Given the description of an element on the screen output the (x, y) to click on. 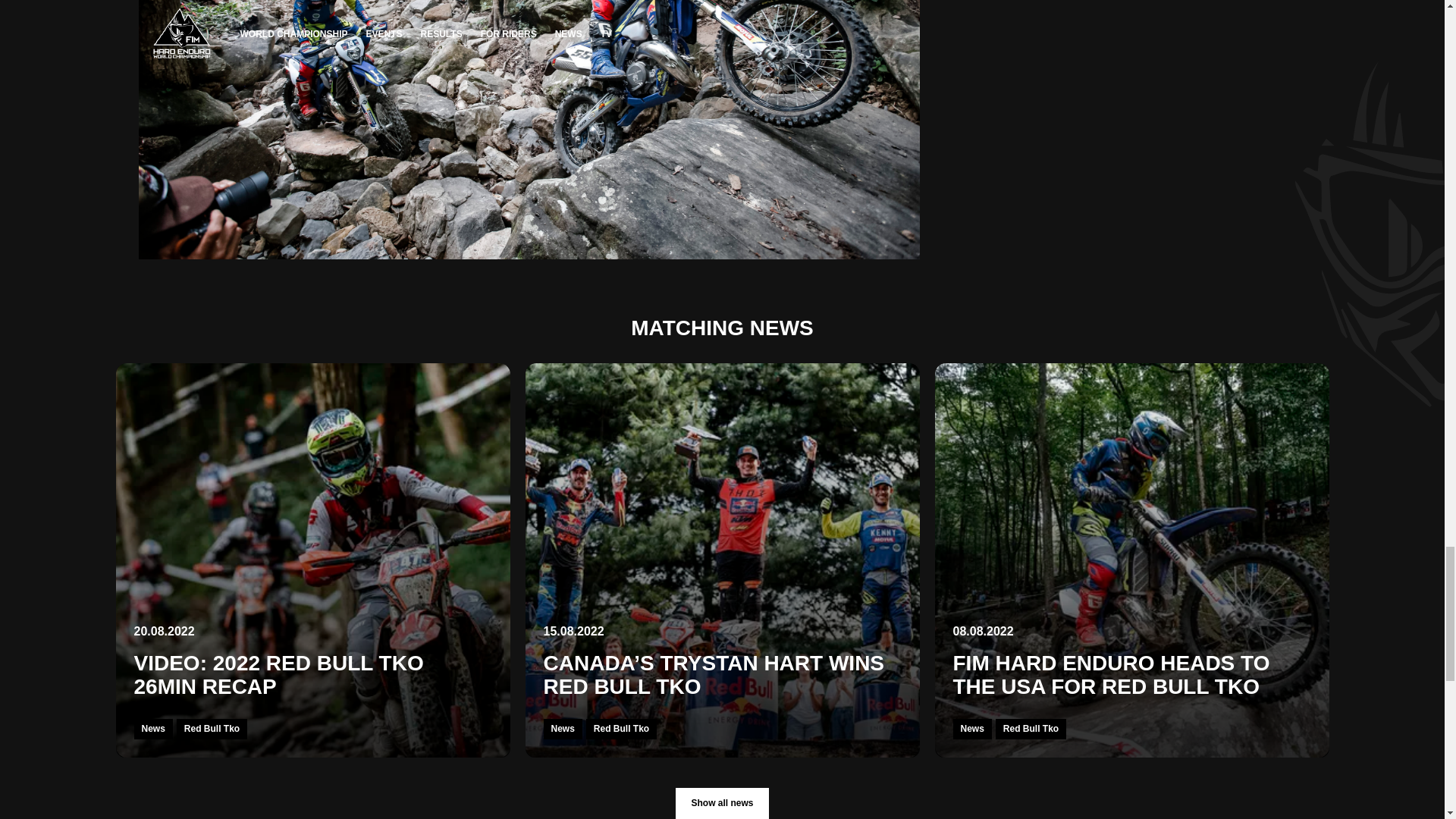
Show all news (721, 803)
